Given the description of an element on the screen output the (x, y) to click on. 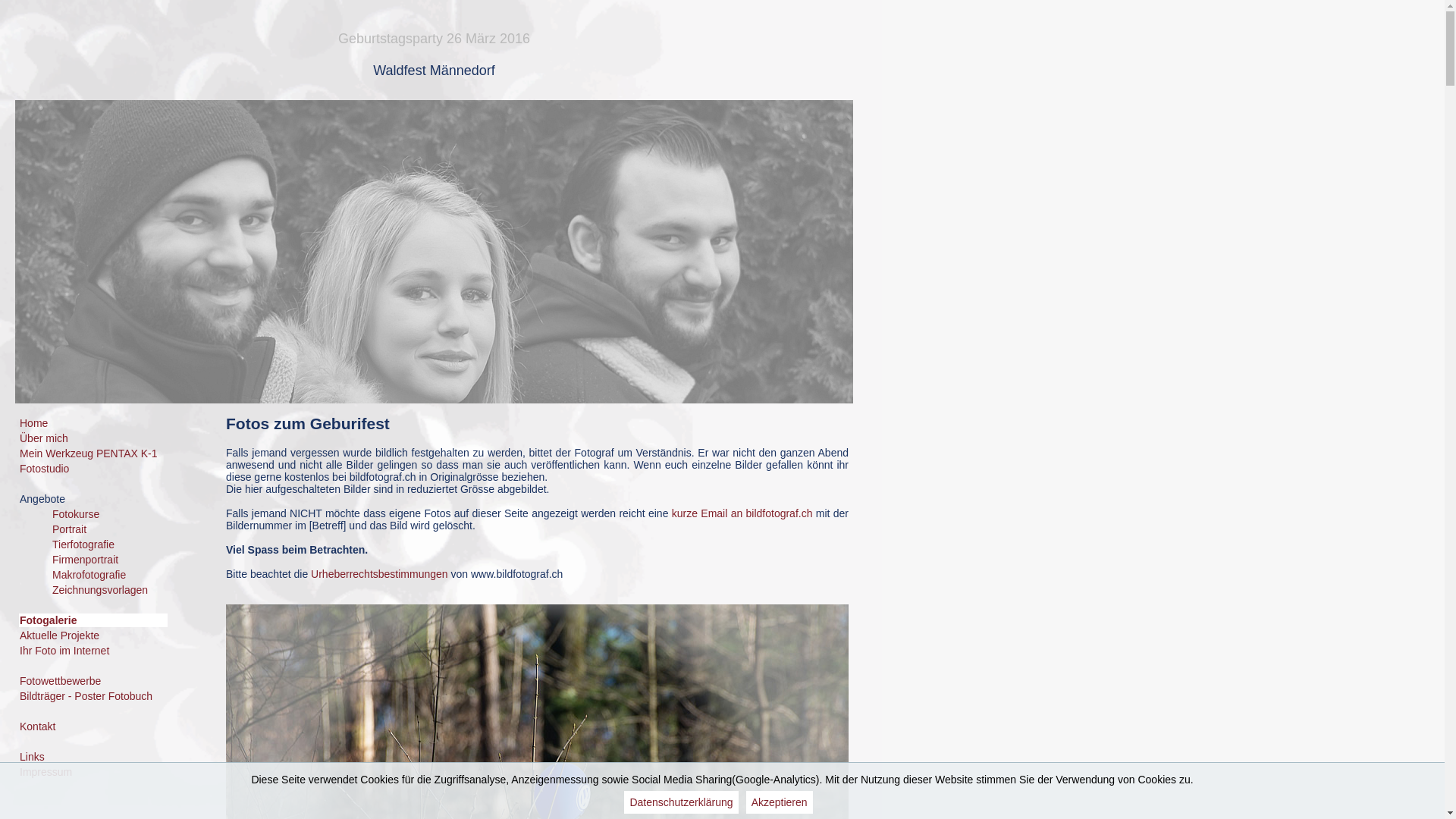
Impressum Element type: text (45, 771)
Urheberrechtsbestimmungen Element type: text (379, 573)
Firmenportrait Element type: text (85, 559)
kurze Email an bildfotograf.ch Element type: text (741, 513)
Portrait Element type: text (69, 529)
Fotokurse Element type: text (75, 514)
Home Element type: text (33, 423)
Fotostudio Element type: text (44, 468)
Makrofotografie Element type: text (88, 574)
Akzeptieren Element type: text (779, 801)
Zeichnungsvorlagen Element type: text (99, 589)
Links Element type: text (31, 756)
Ihr Foto im Internet Element type: text (64, 650)
Fotogalerie Element type: text (47, 620)
Fotowettbewerbe Element type: text (59, 680)
Aktuelle Projekte Element type: text (59, 635)
Kontakt Element type: text (37, 726)
Mein Werkzeug PENTAX K-1 Element type: text (88, 453)
Tierfotografie Element type: text (83, 544)
